Given the description of an element on the screen output the (x, y) to click on. 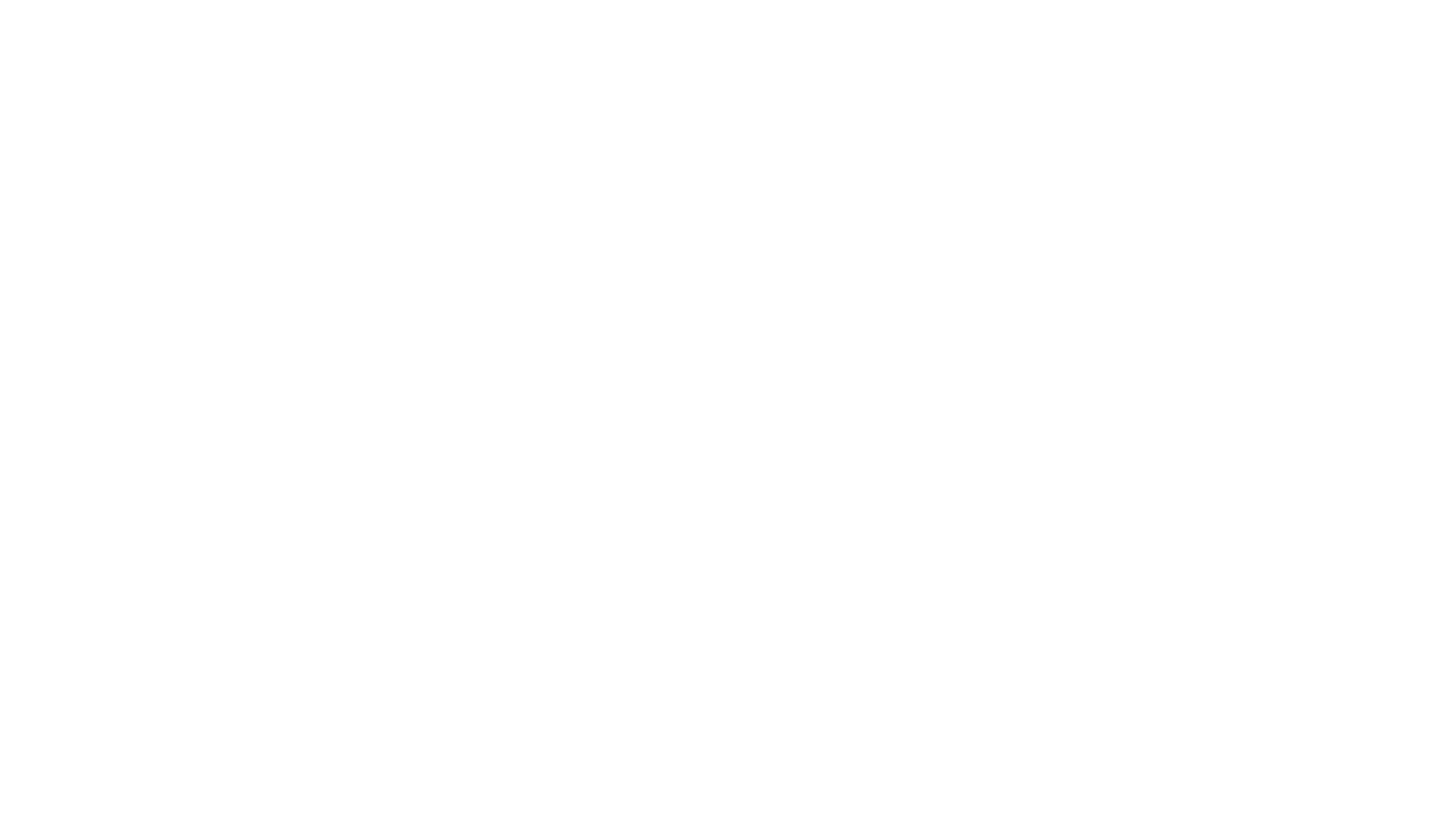
Cloudflare Element type: text (798, 799)
